Given the description of an element on the screen output the (x, y) to click on. 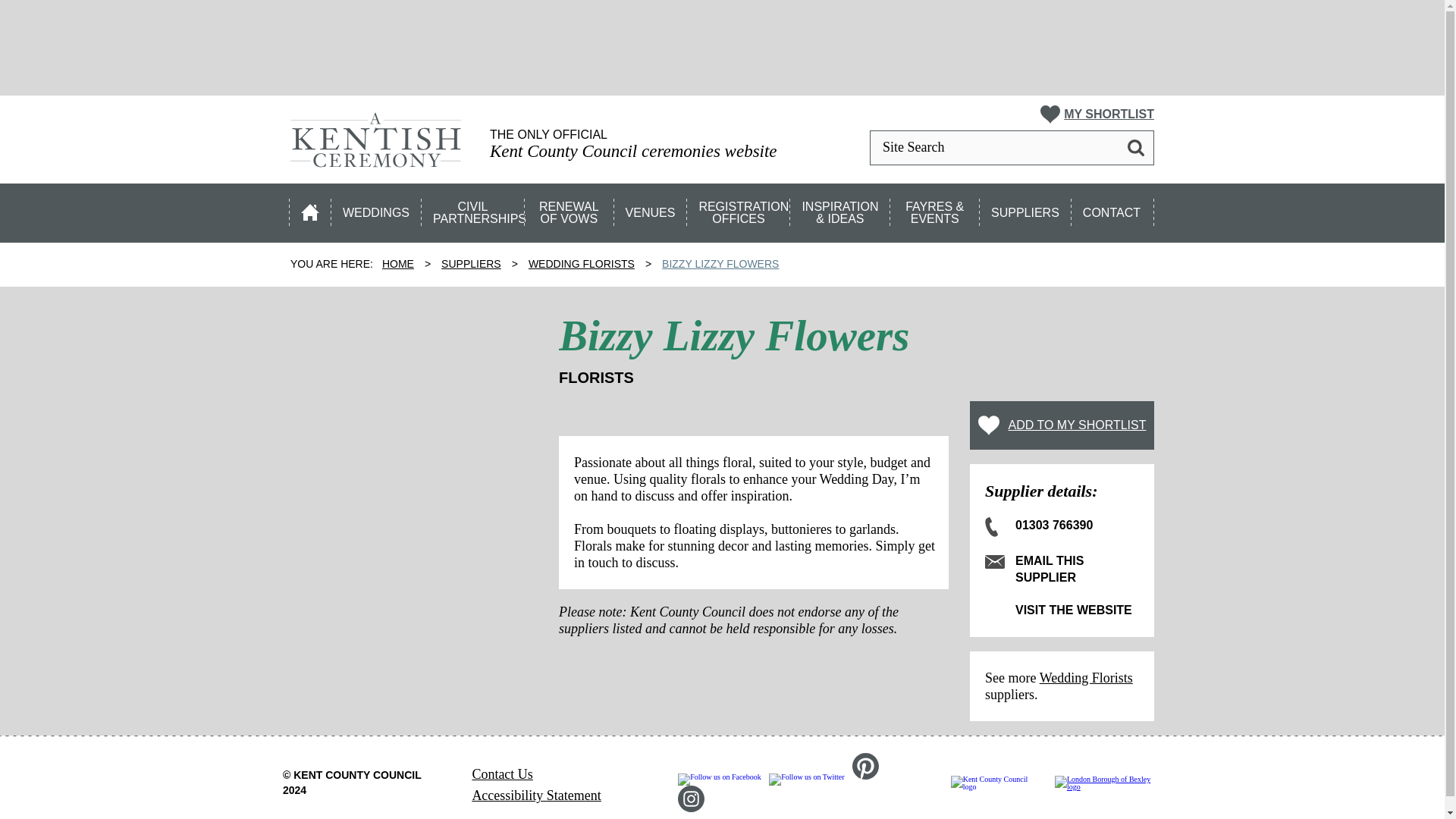
MY SHORTLIST (1097, 114)
RENEWAL OF VOWS (569, 209)
WEDDINGS (376, 209)
REGISTRATION OFFICES (738, 209)
SUPPLIERS (1025, 209)
CIVIL PARTNERSHIPS (473, 209)
VENUES (651, 209)
CONTACT (1112, 209)
